Given the description of an element on the screen output the (x, y) to click on. 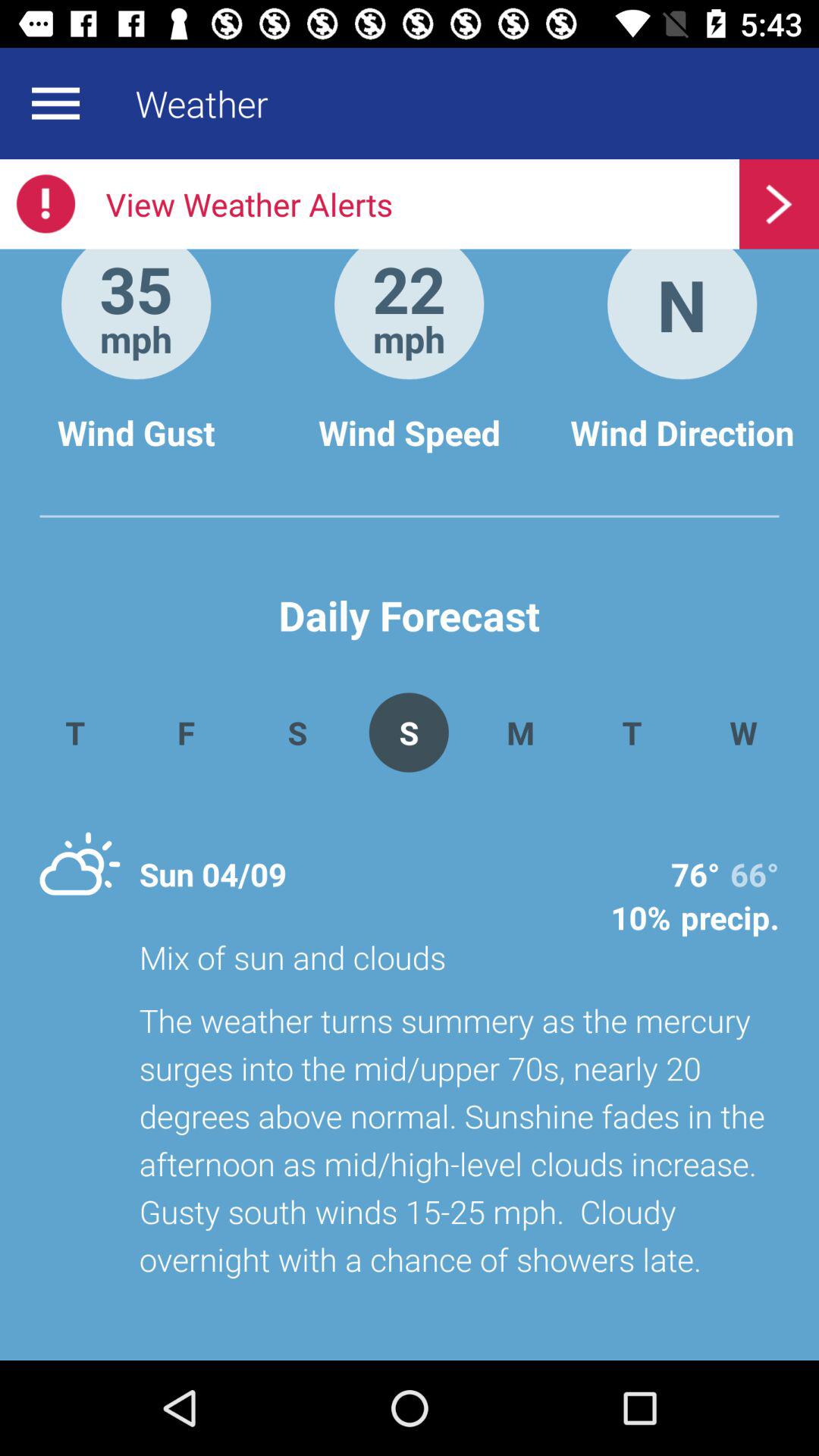
turn on the icon next to t icon (520, 732)
